Given the description of an element on the screen output the (x, y) to click on. 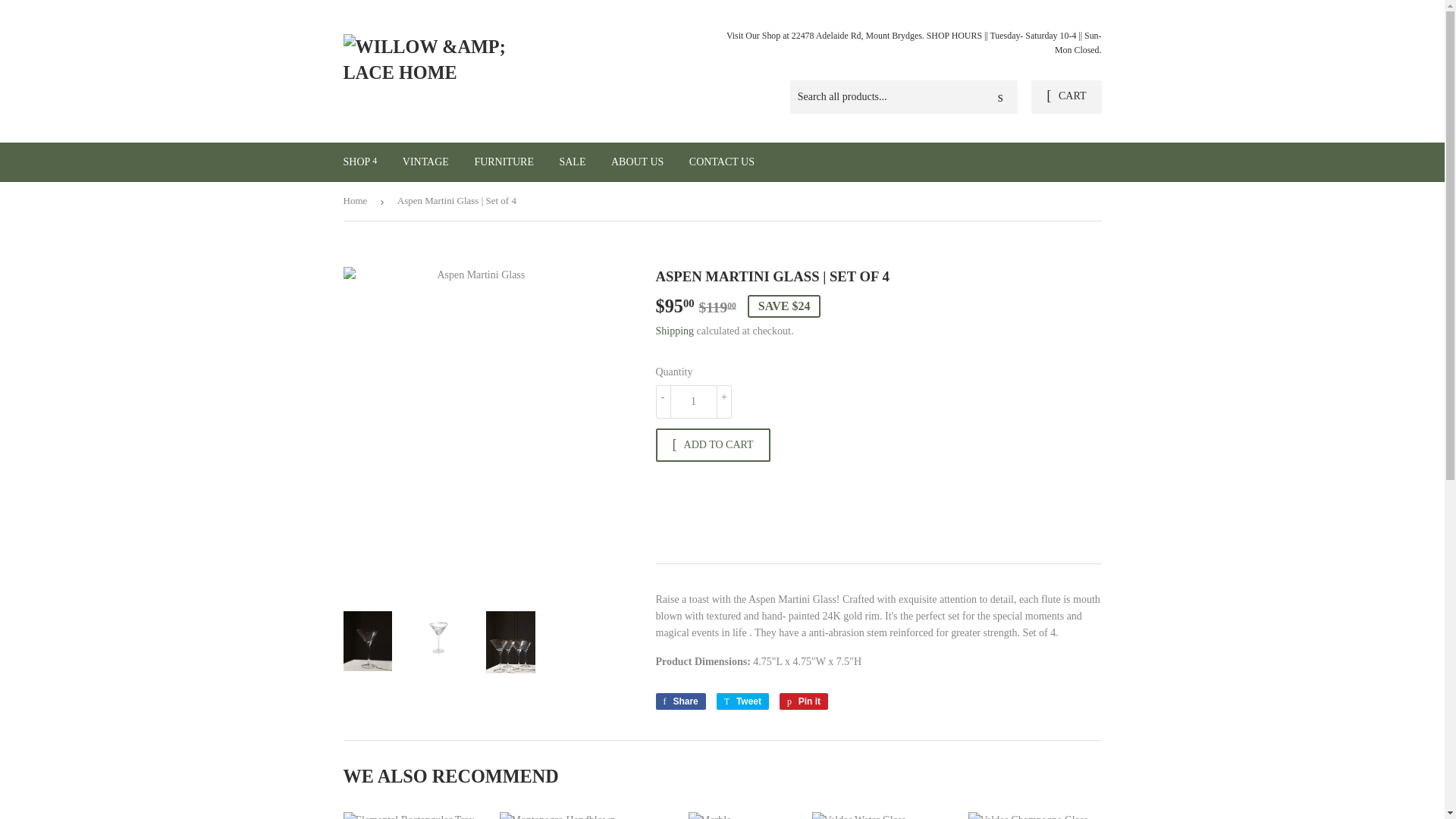
SHOP (359, 161)
Tweet on Twitter (742, 701)
Search (1000, 97)
1 (692, 401)
Share on Facebook (679, 701)
Pin on Pinterest (803, 701)
CART (1065, 96)
